Given the description of an element on the screen output the (x, y) to click on. 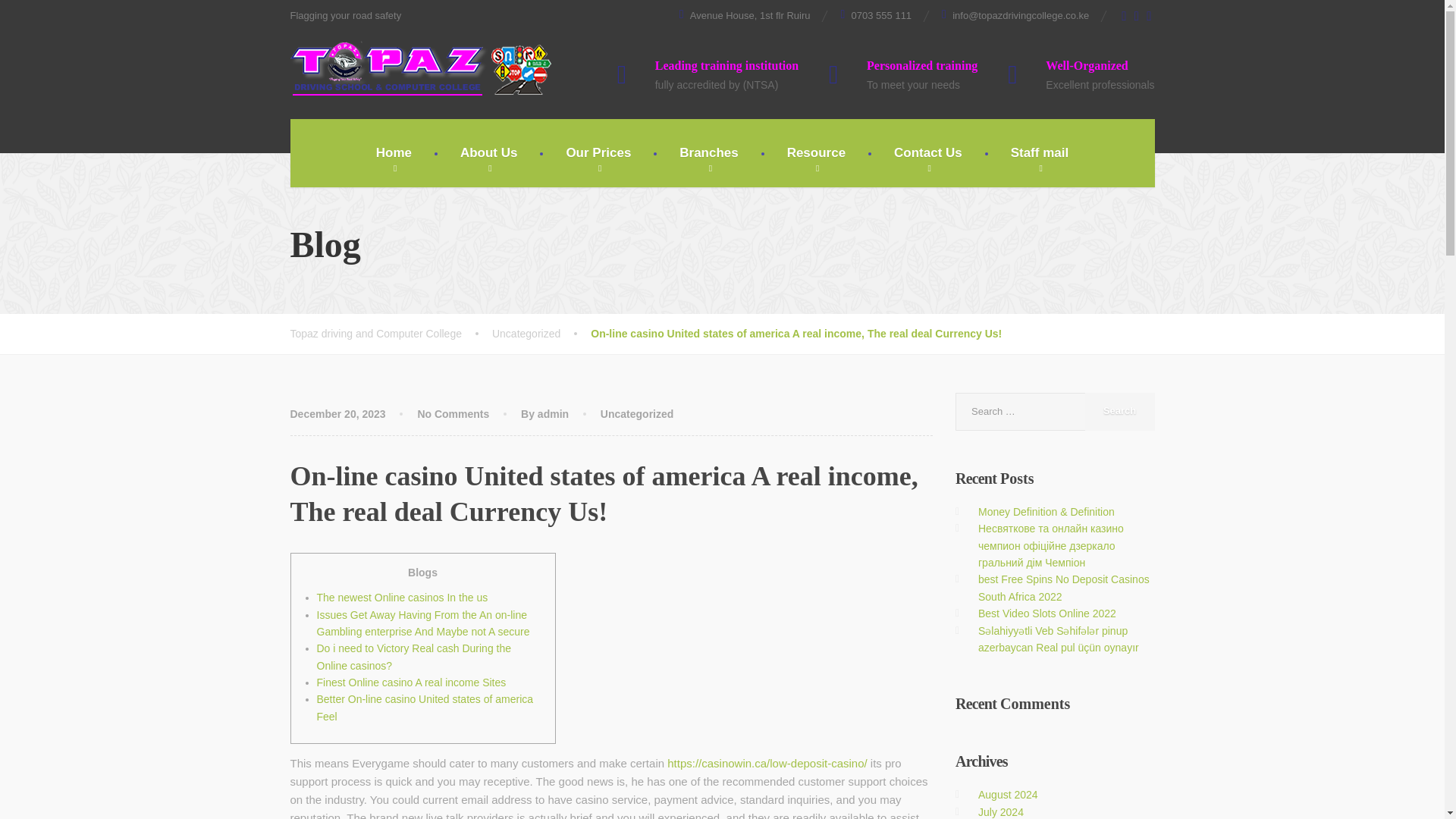
Staff mail (1040, 152)
Branches (708, 152)
Home (393, 152)
Our Prices (598, 152)
Search (1119, 411)
Topaz driving and Computer College (419, 68)
Go to the Uncategorized Category archives. (541, 332)
Resource (815, 152)
Search (1119, 411)
Contact Us (927, 152)
